Given the description of an element on the screen output the (x, y) to click on. 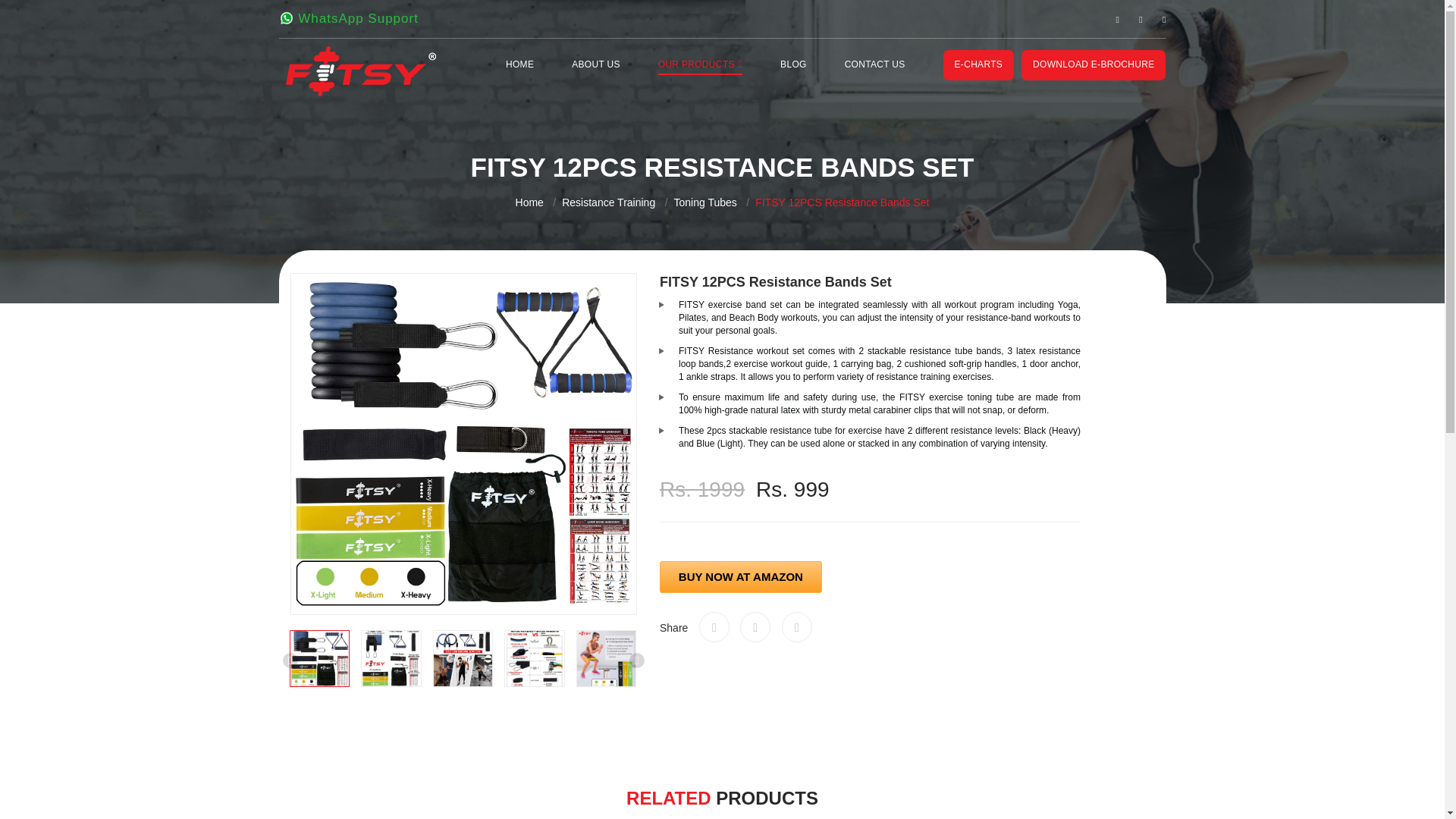
FITSY 12PCS Resistance Bands Set (833, 201)
HOME (519, 64)
OUR PRODUCTS (700, 64)
BLOG (793, 64)
CONTACT US (874, 64)
ABOUT US (596, 64)
Buy now at Amazon (740, 576)
WhatsApp Support (349, 18)
